Given the description of an element on the screen output the (x, y) to click on. 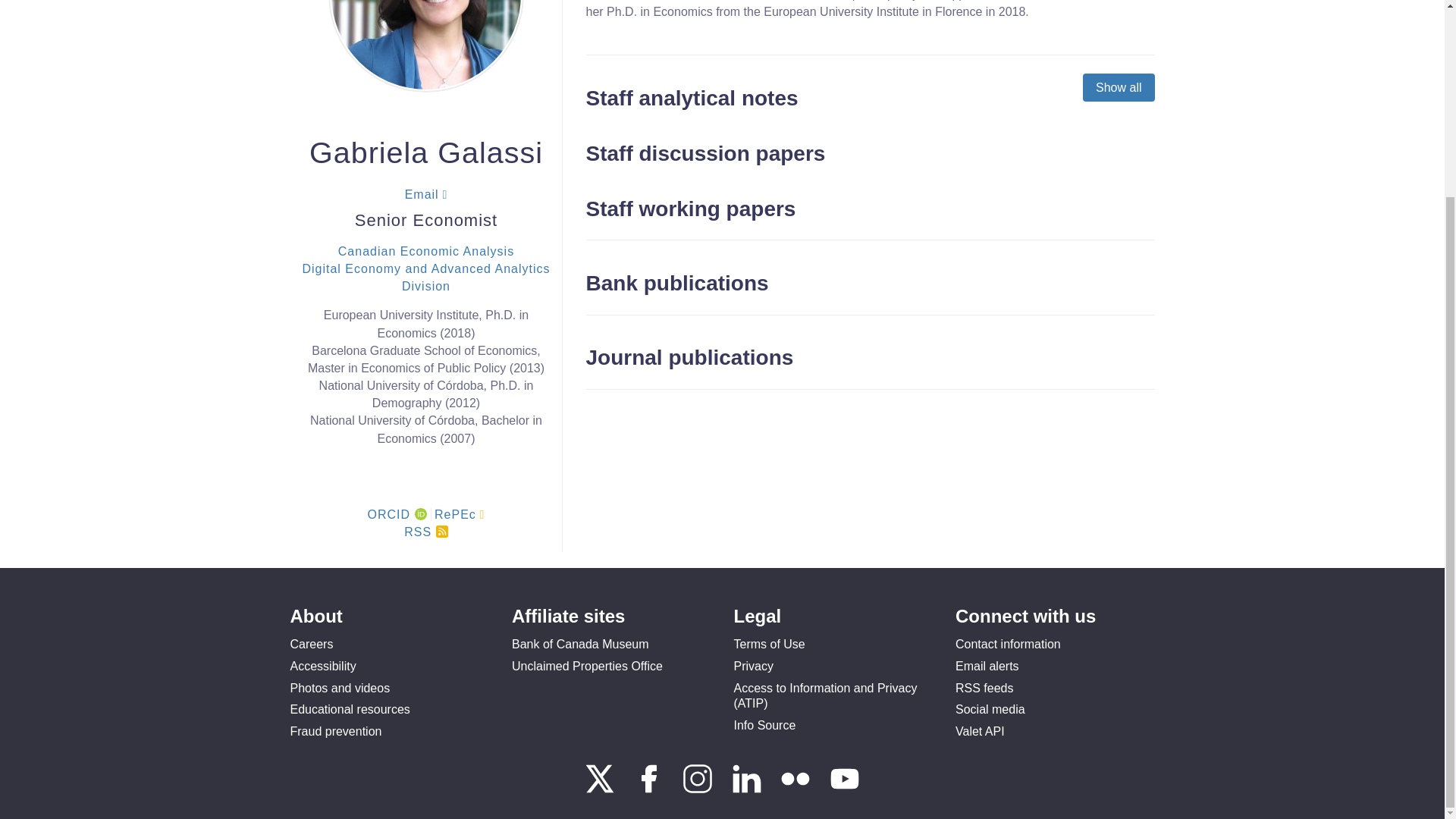
Subscribe to Gabriela Galassi (425, 531)
Change theme (1406, 532)
Author Orcid Link (420, 513)
rss-feed-square (441, 531)
